Given the description of an element on the screen output the (x, y) to click on. 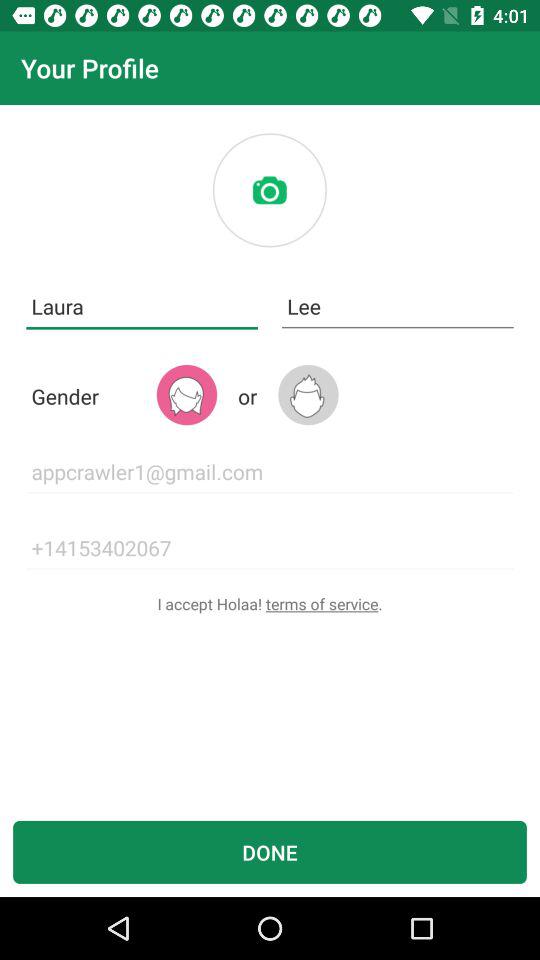
swipe until the done (269, 851)
